Given the description of an element on the screen output the (x, y) to click on. 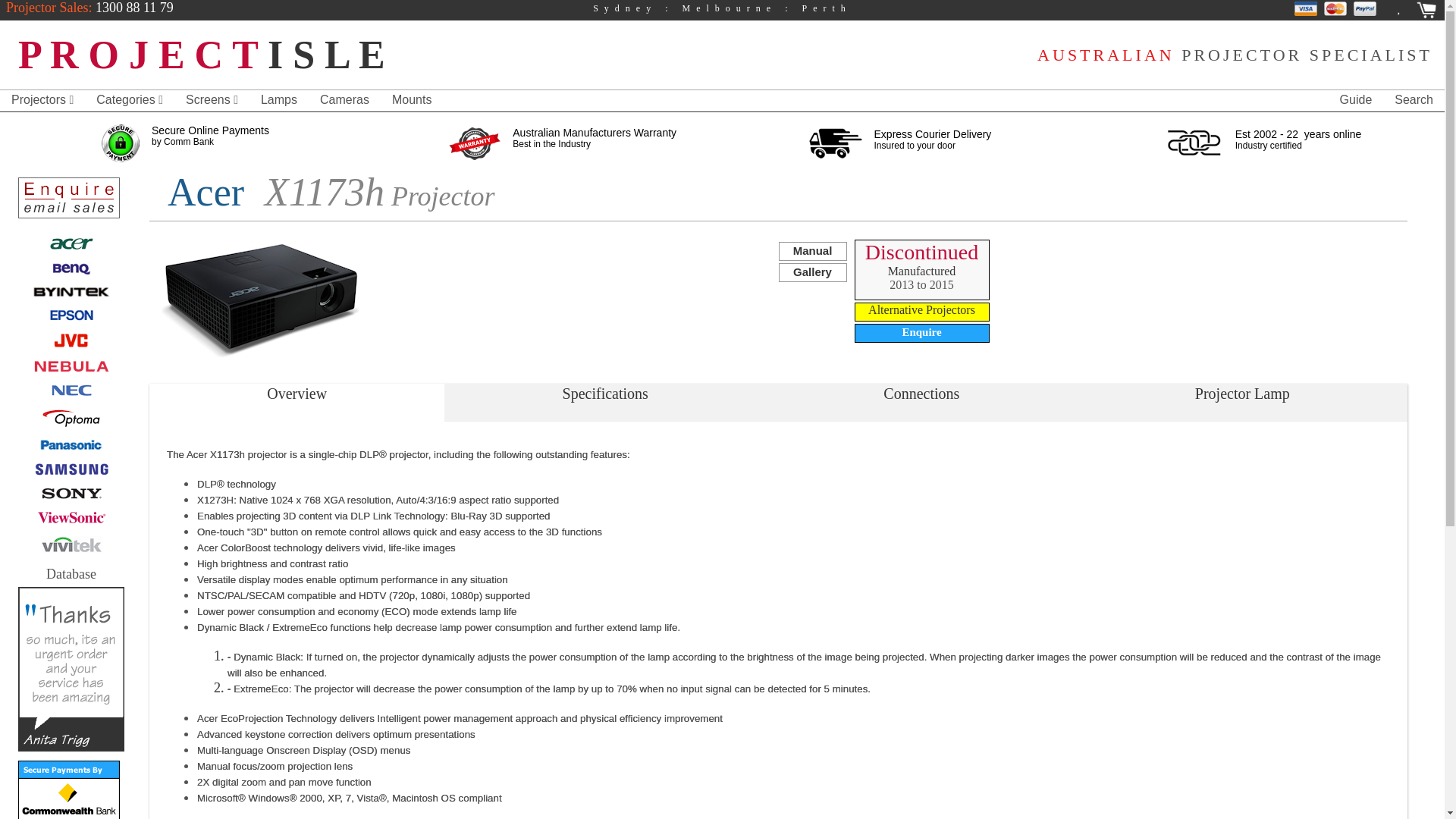
Guide (1355, 100)
Projectors (42, 100)
open X1173h Gallery (811, 271)
P R O J E C T I S L E (201, 54)
1300 88 11 79 (132, 7)
Search (1413, 99)
Guide (1356, 99)
open X1173h PDF Manual (811, 251)
open X1173h Gallery (250, 300)
Categories (129, 100)
